Given the description of an element on the screen output the (x, y) to click on. 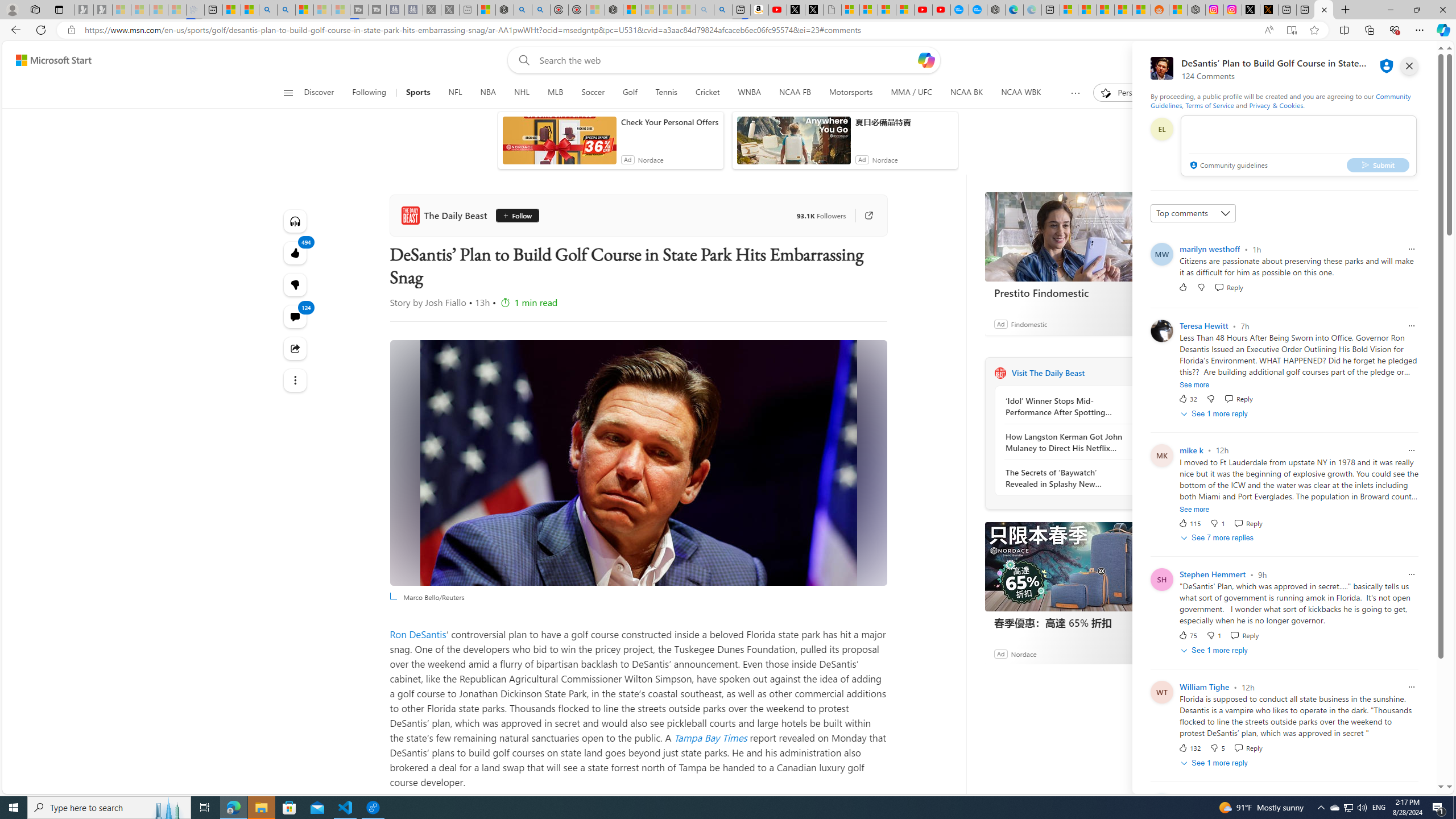
Ron DeSantis (418, 634)
75 Like (1187, 635)
Open Copilot (926, 59)
Microsoft Start - Sleeping (322, 9)
The Daily Beast (1000, 372)
Nordace - Nordace Siena Is Not An Ordinary Backpack (613, 9)
Following (370, 92)
See 1 more reply (1215, 762)
Golf (629, 92)
Amazon Echo Dot PNG - Search Images (722, 9)
